Given the description of an element on the screen output the (x, y) to click on. 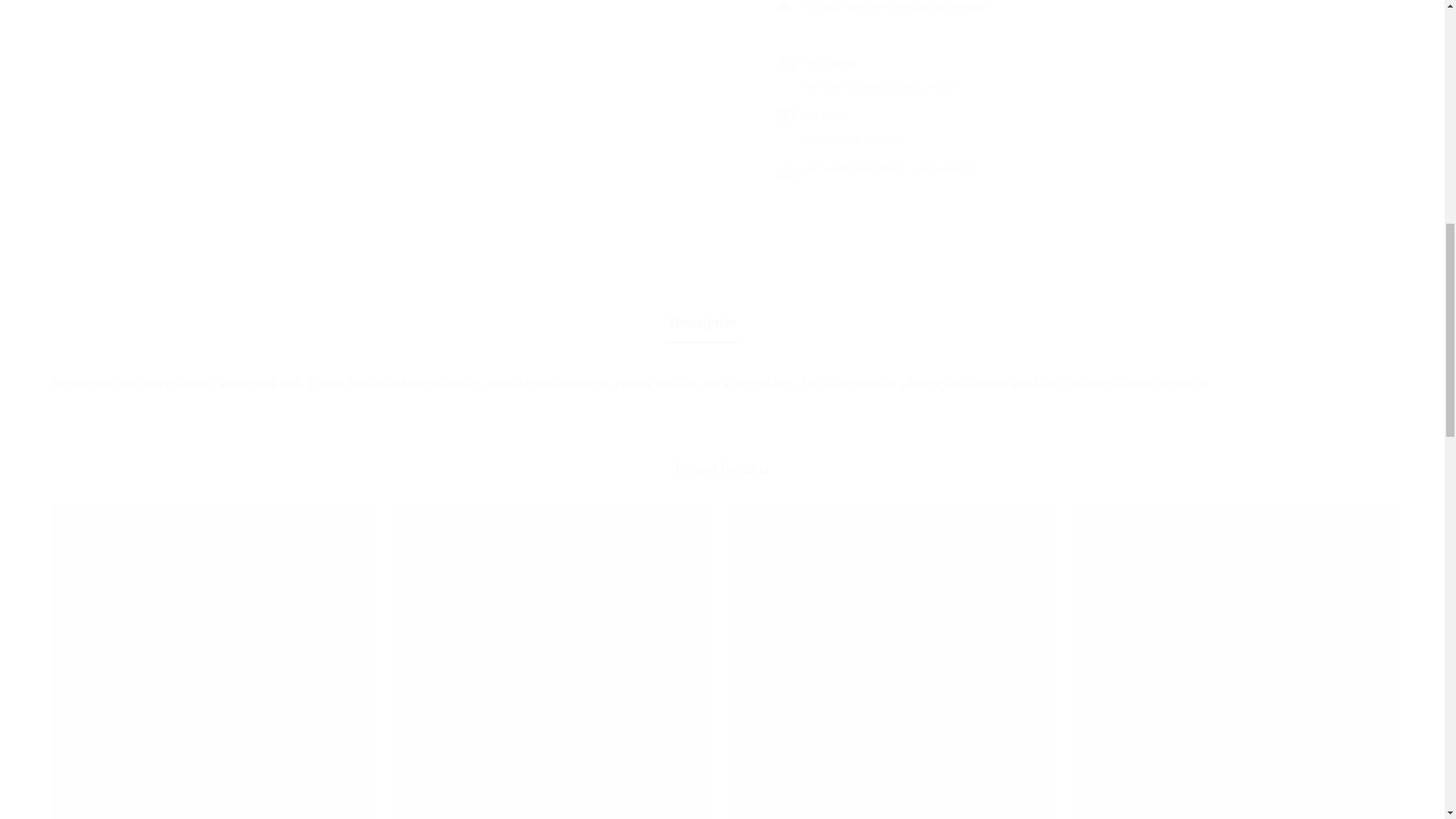
Built And Shipped Within 1 - 2 Bussiness Days (1085, 26)
